Given the description of an element on the screen output the (x, y) to click on. 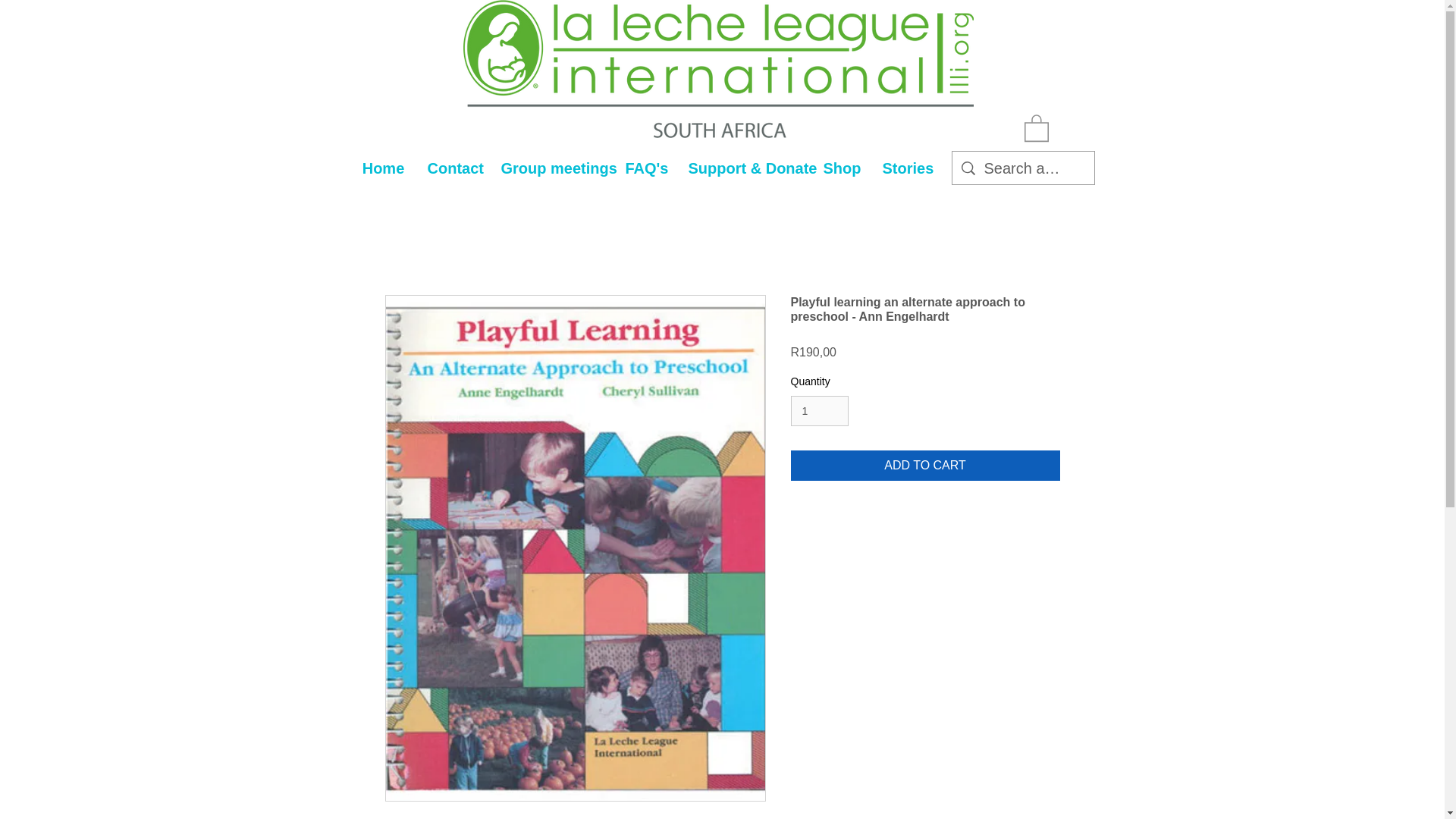
Stories (904, 168)
Group meetings (551, 168)
Contact (451, 168)
Home (382, 168)
Shop (840, 168)
FAQ's (645, 168)
1 (818, 410)
ADD TO CART (924, 465)
